Given the description of an element on the screen output the (x, y) to click on. 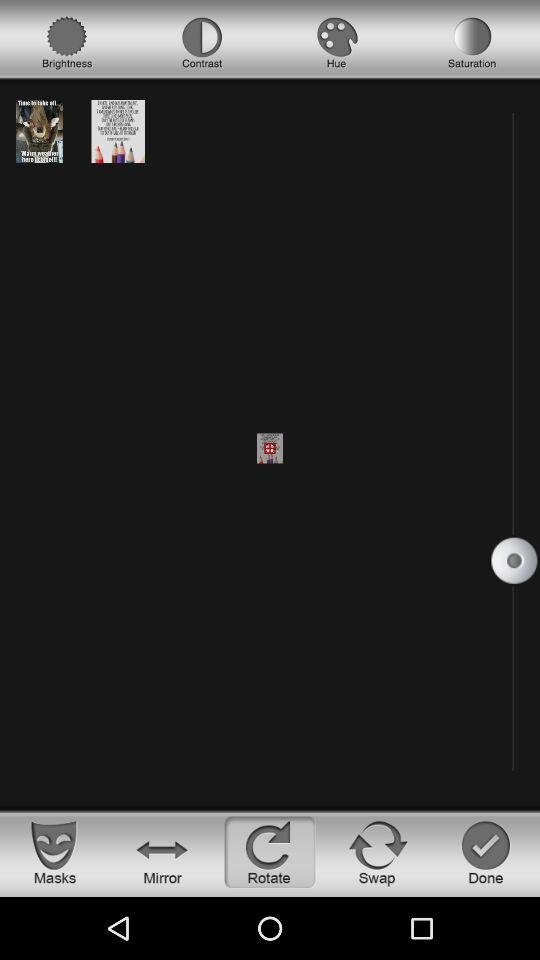
access brightness settings (67, 43)
